Given the description of an element on the screen output the (x, y) to click on. 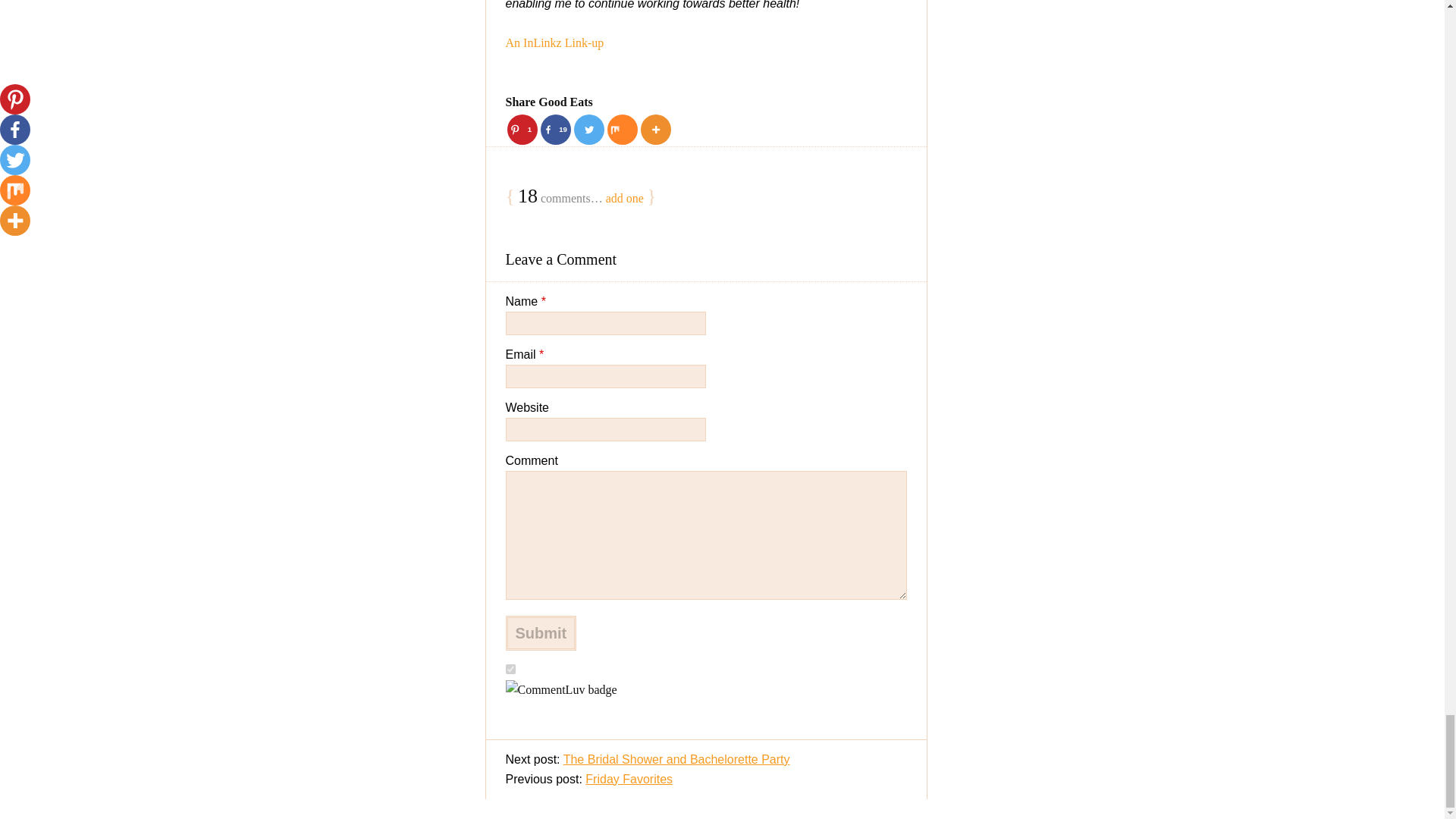
More (654, 129)
Twitter (588, 129)
click to view in an external page. (554, 42)
Mix (622, 129)
on (510, 669)
Facebook (555, 129)
Submit (540, 632)
Pinterest (521, 129)
